Given the description of an element on the screen output the (x, y) to click on. 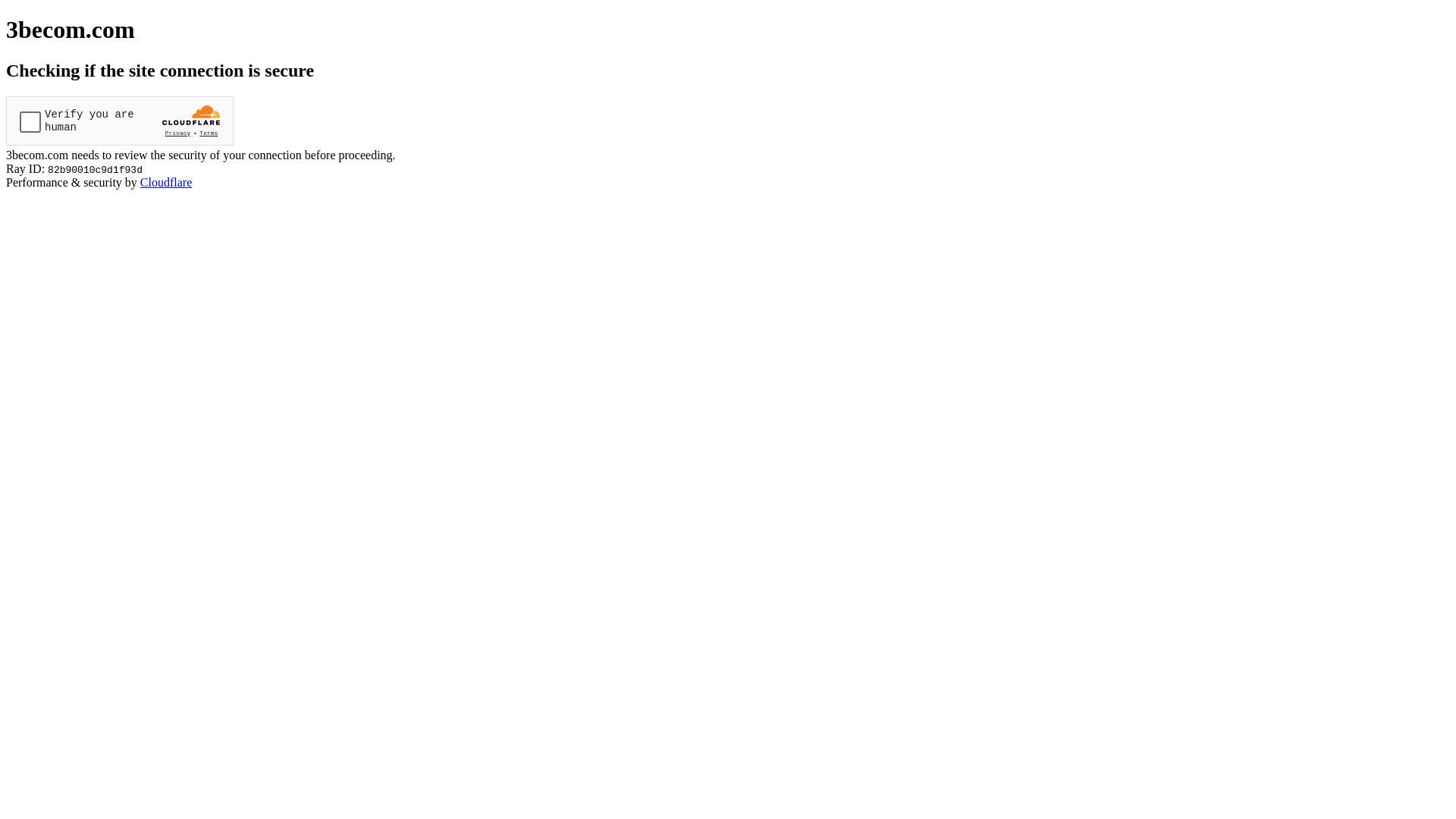
Widget containing a Cloudflare security challenge Element type: hover (119, 120)
Cloudflare Element type: text (165, 181)
